Given the description of an element on the screen output the (x, y) to click on. 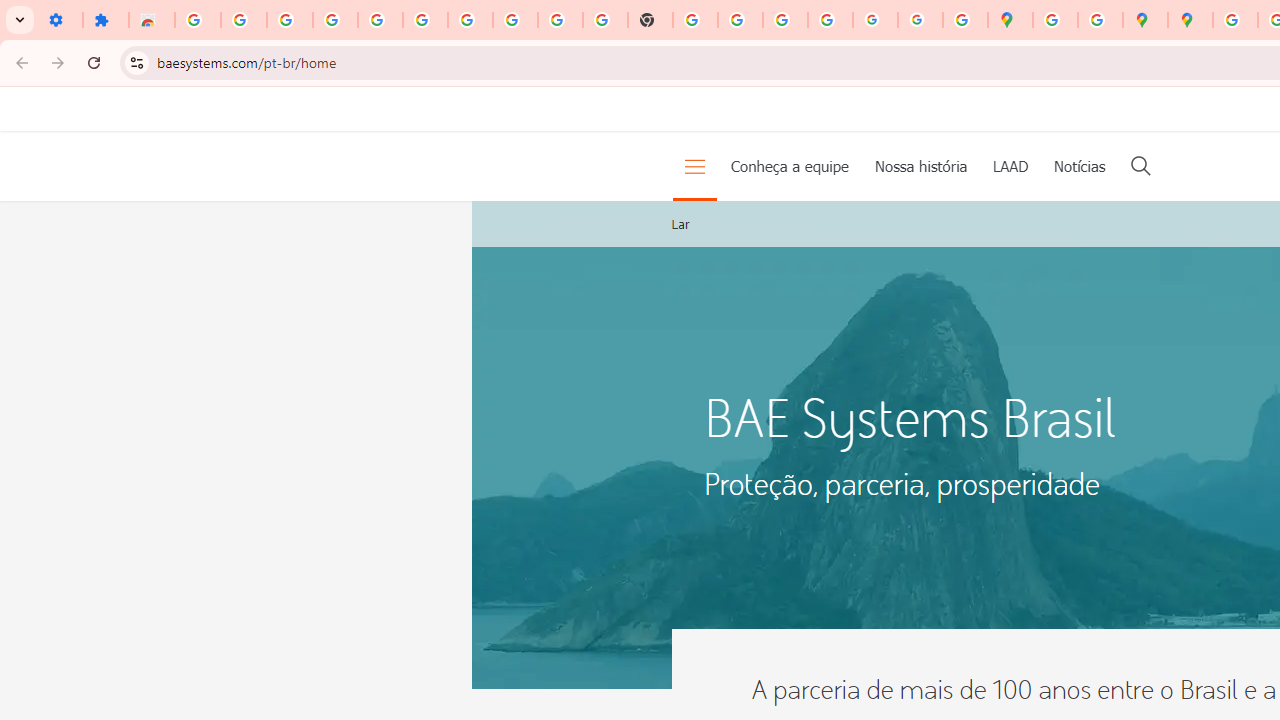
Google Maps (1010, 20)
Google Account (514, 20)
Sign in - Google Accounts (425, 20)
https://scholar.google.com/ (695, 20)
